Given the description of an element on the screen output the (x, y) to click on. 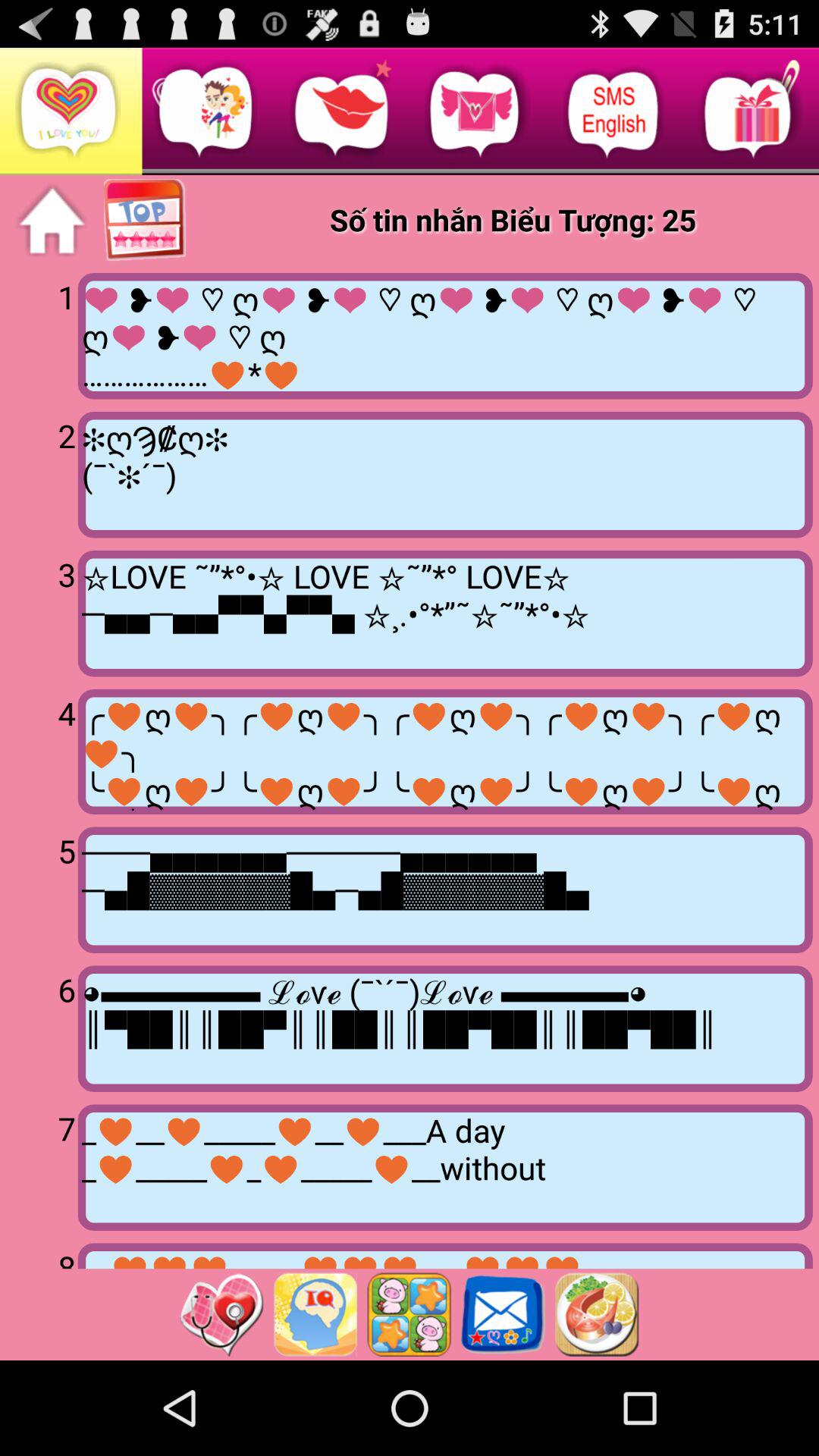
show top rated items (145, 220)
